Given the description of an element on the screen output the (x, y) to click on. 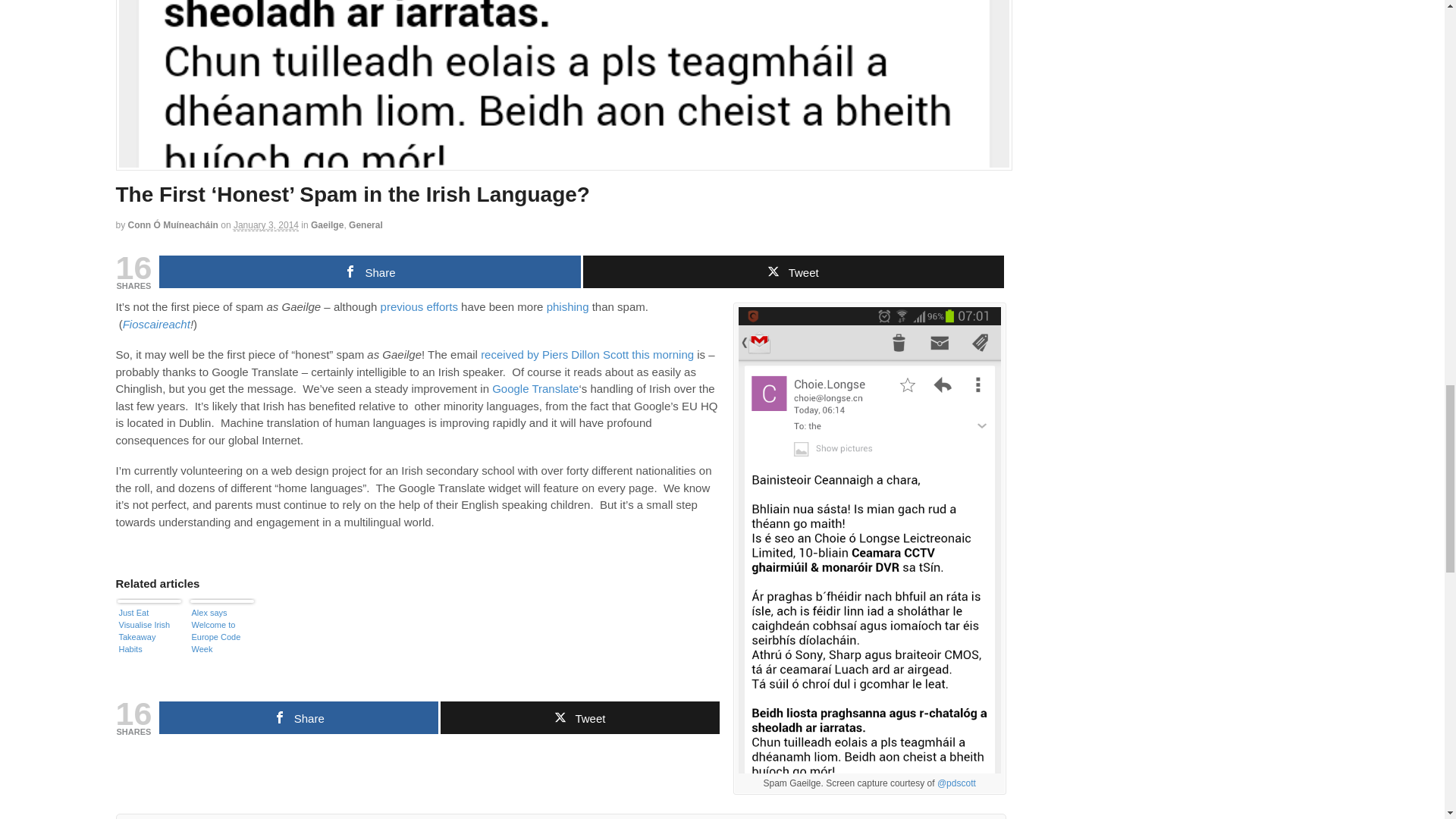
View all items in General (365, 225)
Share (368, 271)
Google Translate (535, 388)
Fioscaireacht (156, 323)
Just Eat Visualise Irish Takeaway Habits (148, 634)
Tweet (792, 271)
received by Piers Dillon Scott this morning (587, 354)
View all items in Gaeilge (327, 225)
Gaeilge (327, 225)
previous efforts (419, 306)
